Given the description of an element on the screen output the (x, y) to click on. 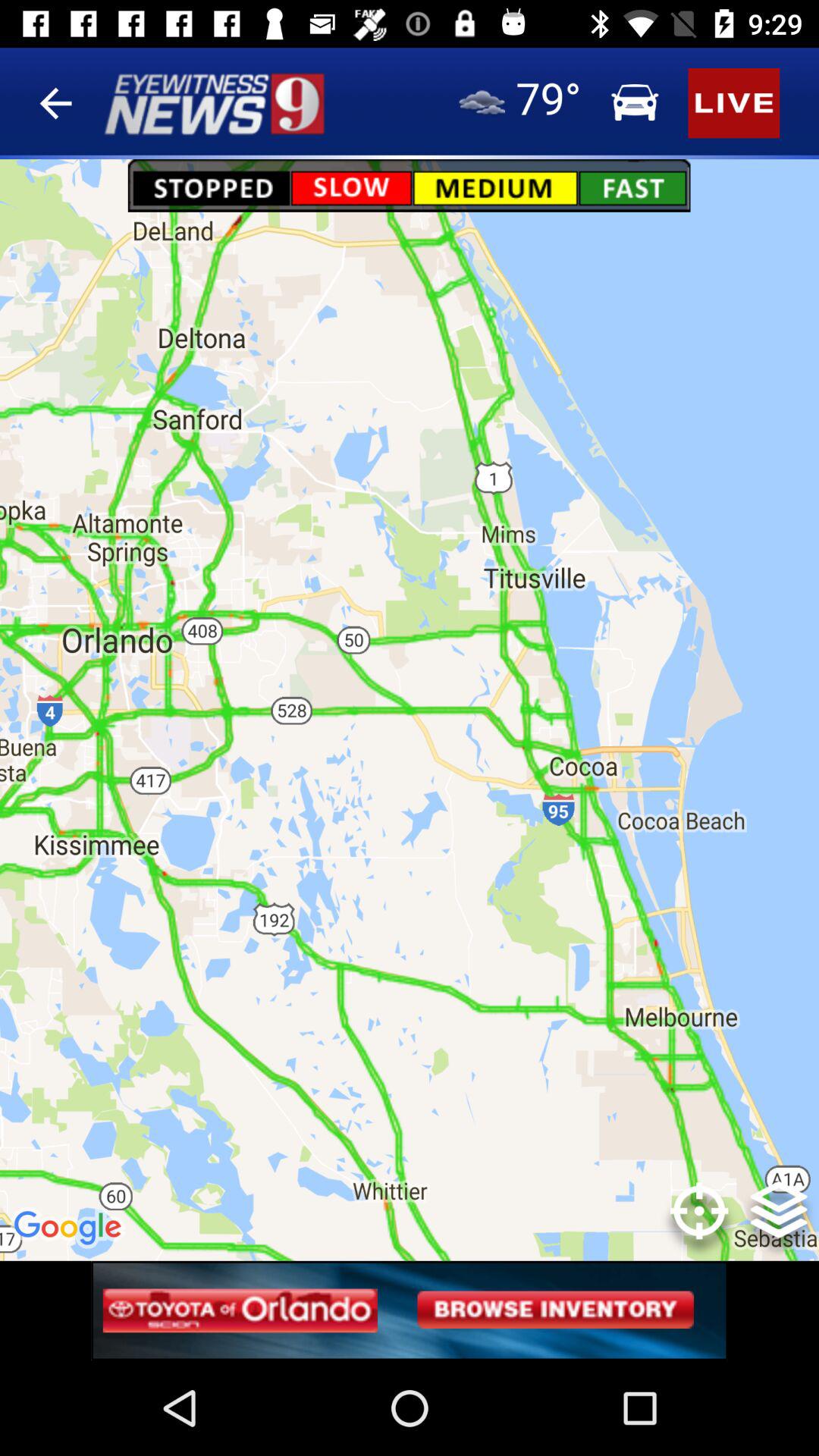
select kissimmee (119, 868)
